Given the description of an element on the screen output the (x, y) to click on. 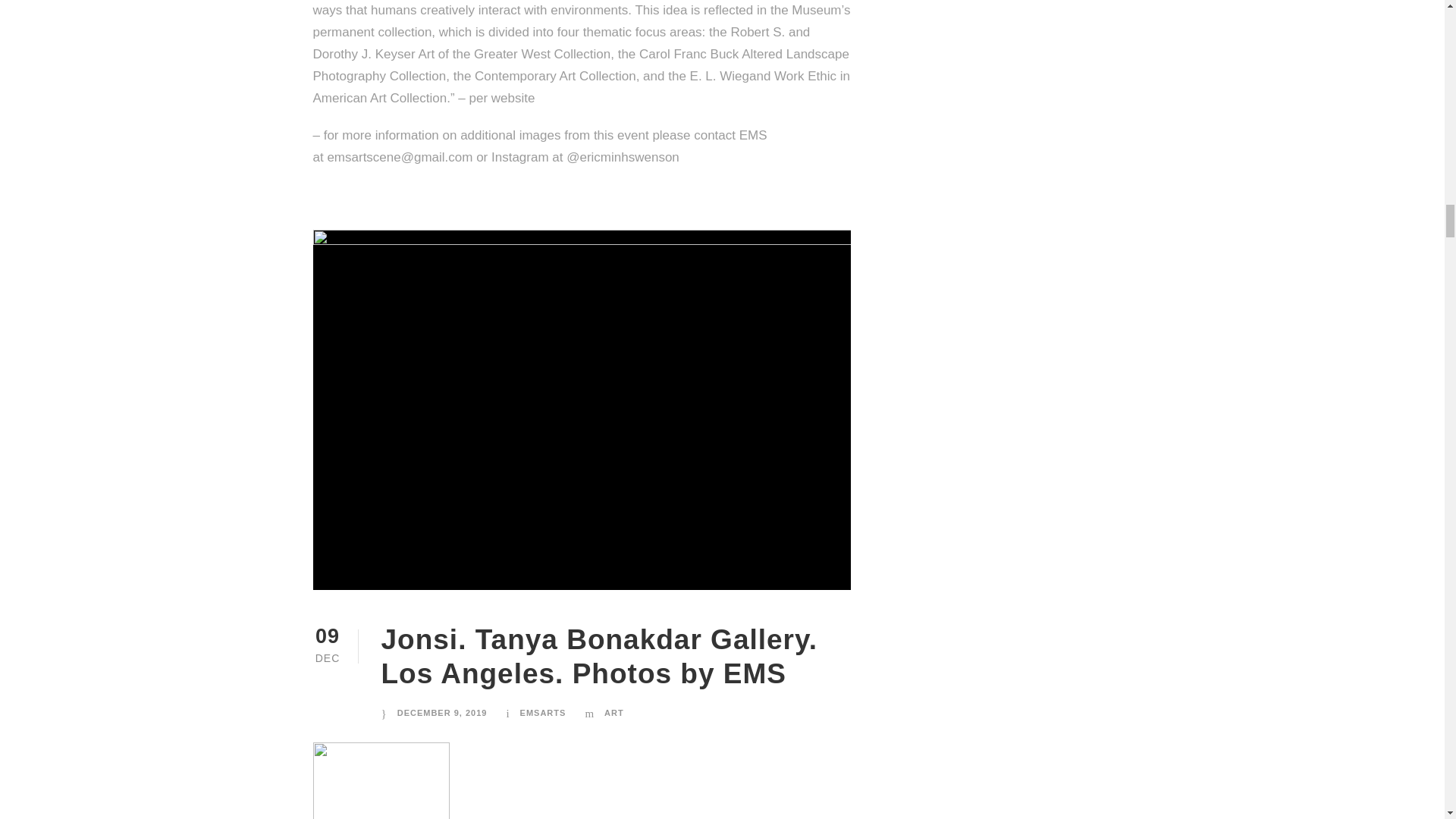
Posts by emsarts (542, 712)
Jonsi. Tanya Bonakdar Gallery. Los Angeles. Photos by EMS (598, 656)
